Given the description of an element on the screen output the (x, y) to click on. 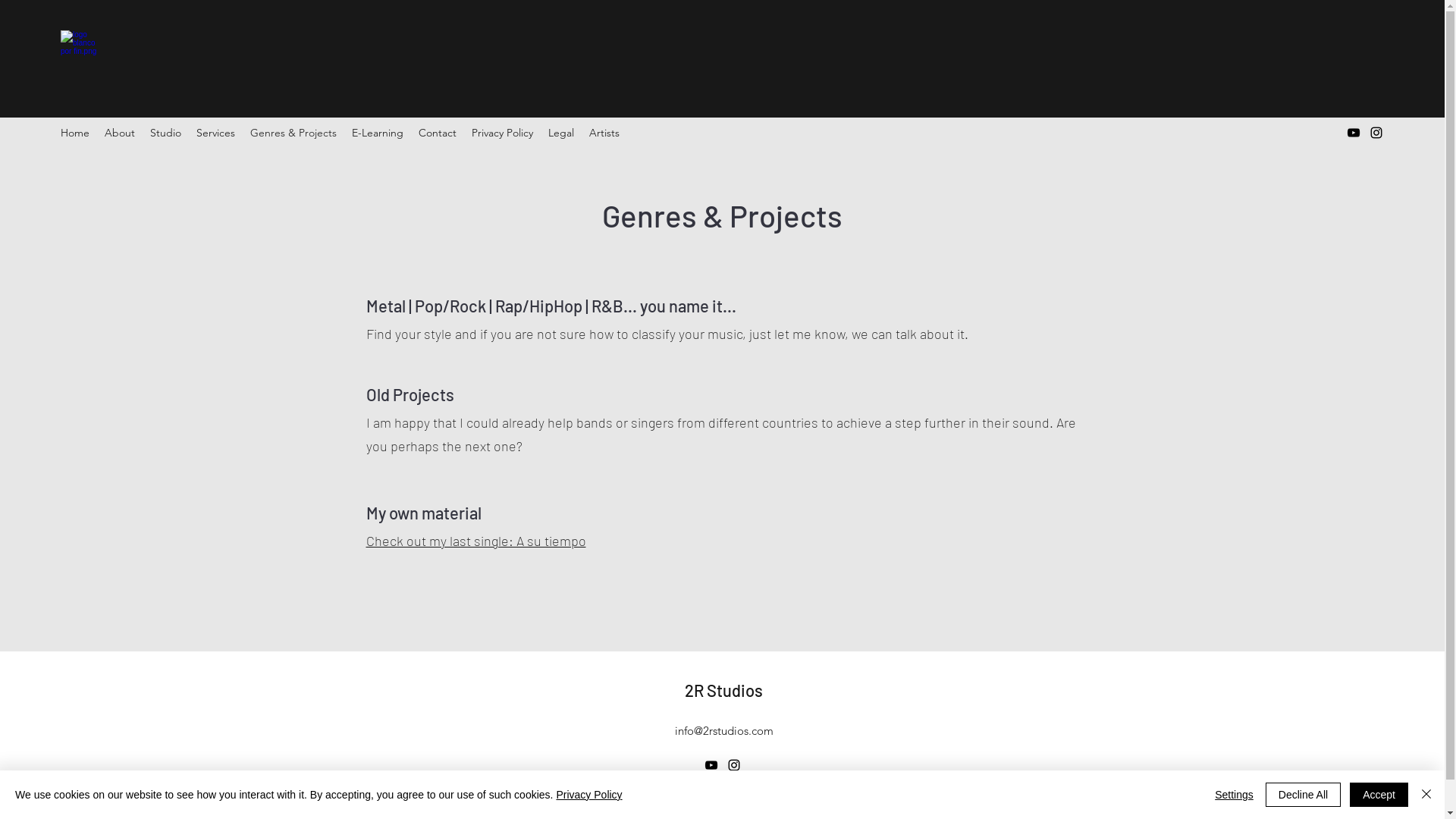
Accept Element type: text (1378, 794)
Services Element type: text (215, 132)
Genres & Projects Element type: text (293, 132)
Decline All Element type: text (1302, 794)
Artists Element type: text (604, 132)
2R Studios Element type: text (723, 689)
info@2rstudios.com Element type: text (723, 730)
Legal Element type: text (560, 132)
Privacy Policy Element type: text (588, 794)
E-Learning Element type: text (377, 132)
About Element type: text (119, 132)
Studio Element type: text (165, 132)
Contact Element type: text (437, 132)
Home Element type: text (75, 132)
Privacy Policy Element type: text (502, 132)
Check out my last single: A su tiempo Element type: text (475, 540)
